Given the description of an element on the screen output the (x, y) to click on. 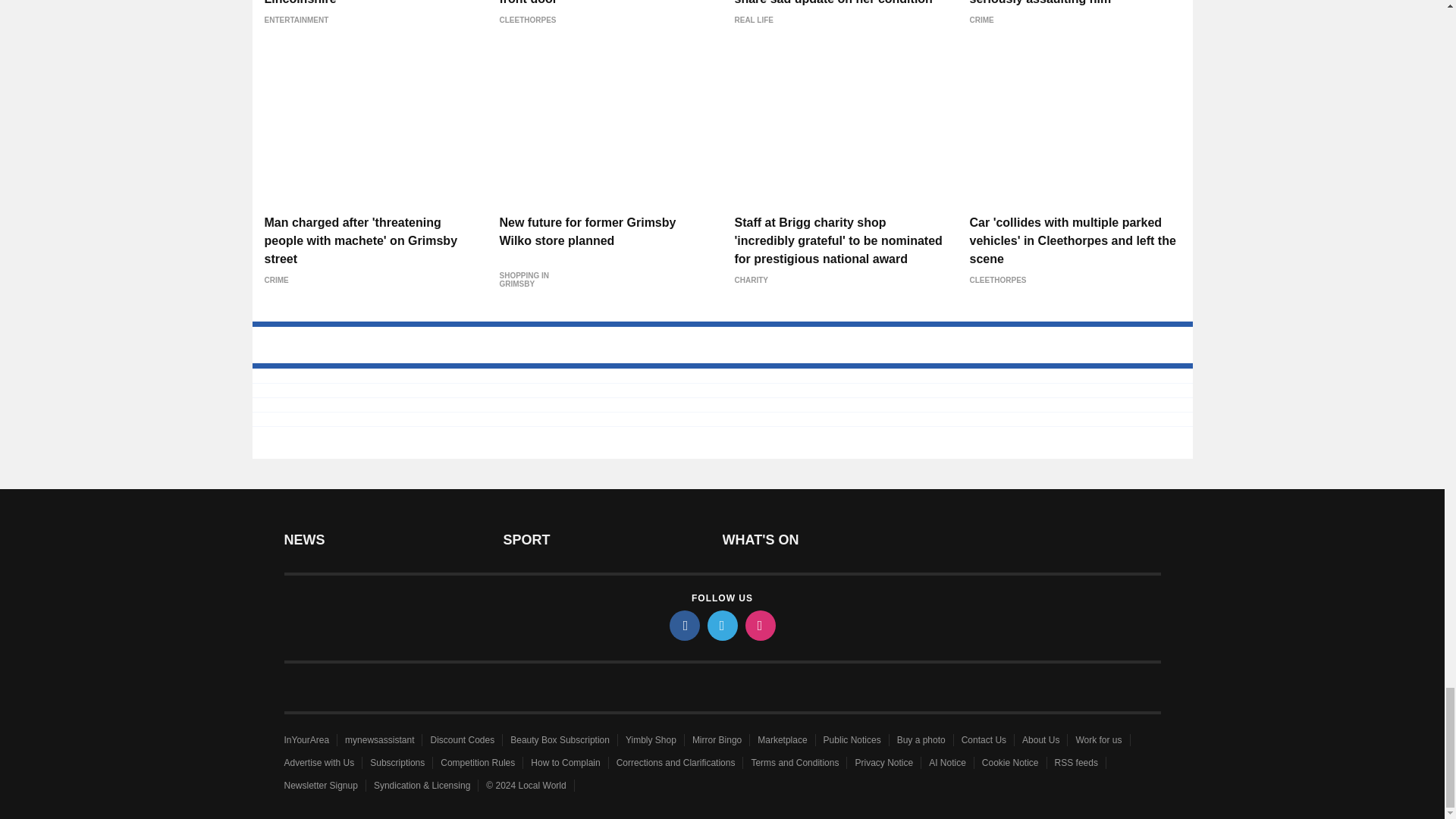
instagram (759, 625)
twitter (721, 625)
facebook (683, 625)
